Given the description of an element on the screen output the (x, y) to click on. 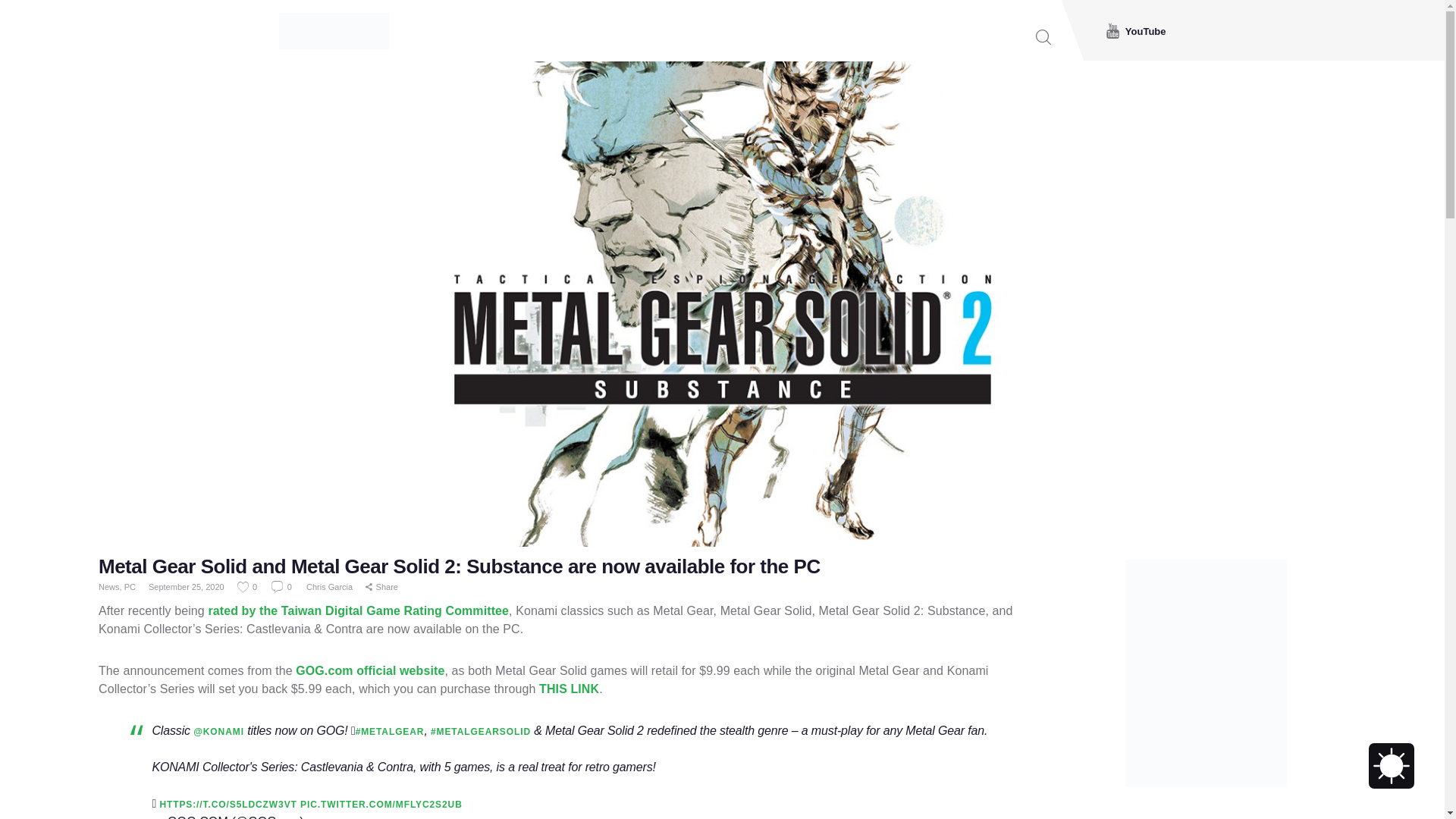
SEPTEMBER 25, 2020 (360, 818)
0 (282, 586)
THIS LINK (568, 688)
September 25, 2020 (186, 586)
rated by the Taiwan Digital Game Rating Committee (358, 610)
News (109, 586)
0 (248, 586)
PC (129, 586)
Share (381, 587)
Like (248, 586)
